Given the description of an element on the screen output the (x, y) to click on. 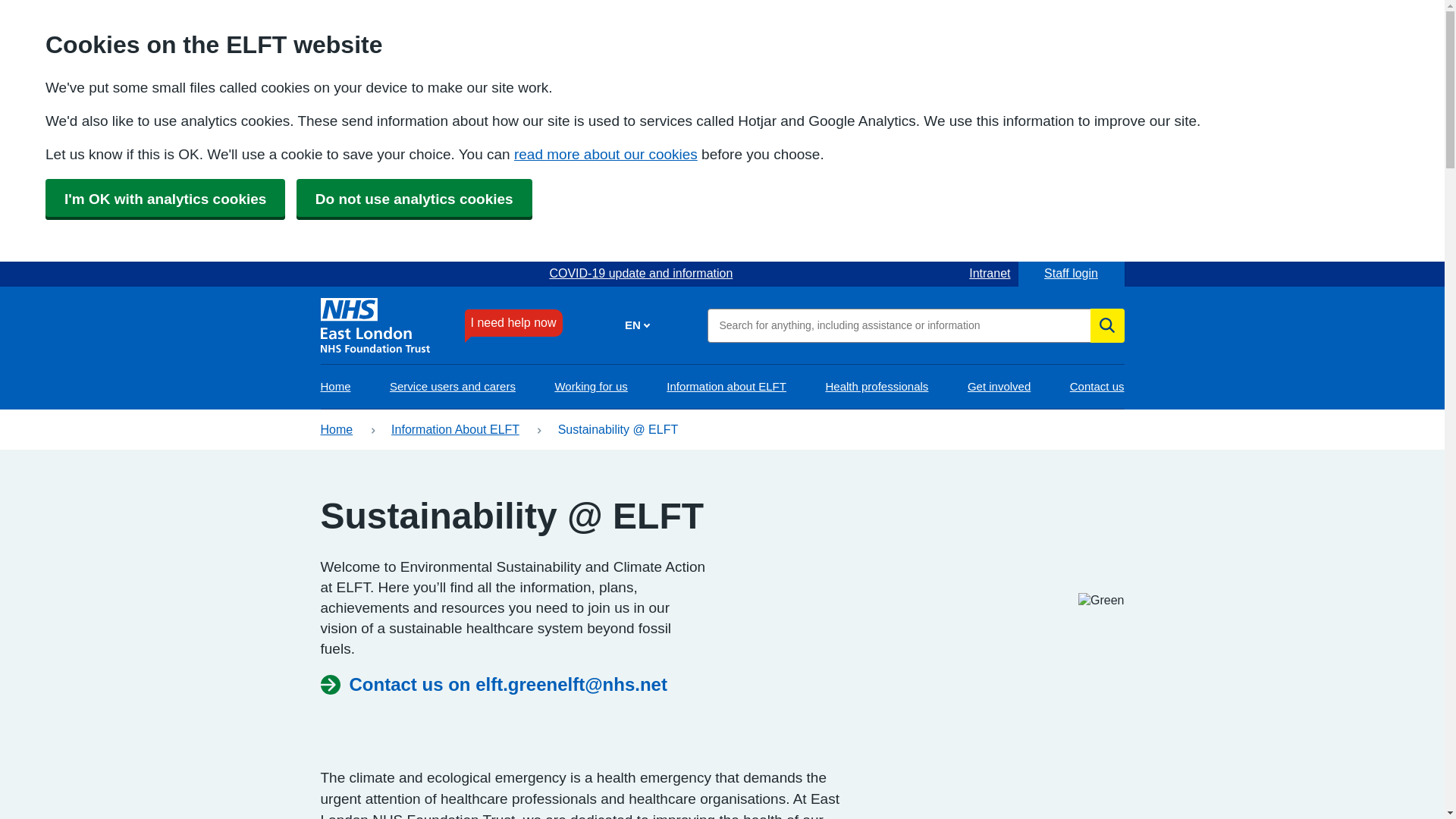
Information About ELFT (455, 429)
Search (1107, 324)
Home (335, 386)
Service users and carers (452, 386)
I'm OK with analytics cookies (165, 199)
read more about our cookies (605, 154)
Health professionals (876, 386)
Information about ELFT (726, 386)
Intranet (989, 273)
COVID-19 update and information (640, 273)
I need help now (513, 322)
Search (1107, 324)
ELFT Covid-19 update and information (640, 273)
Staff login (1070, 273)
